Given the description of an element on the screen output the (x, y) to click on. 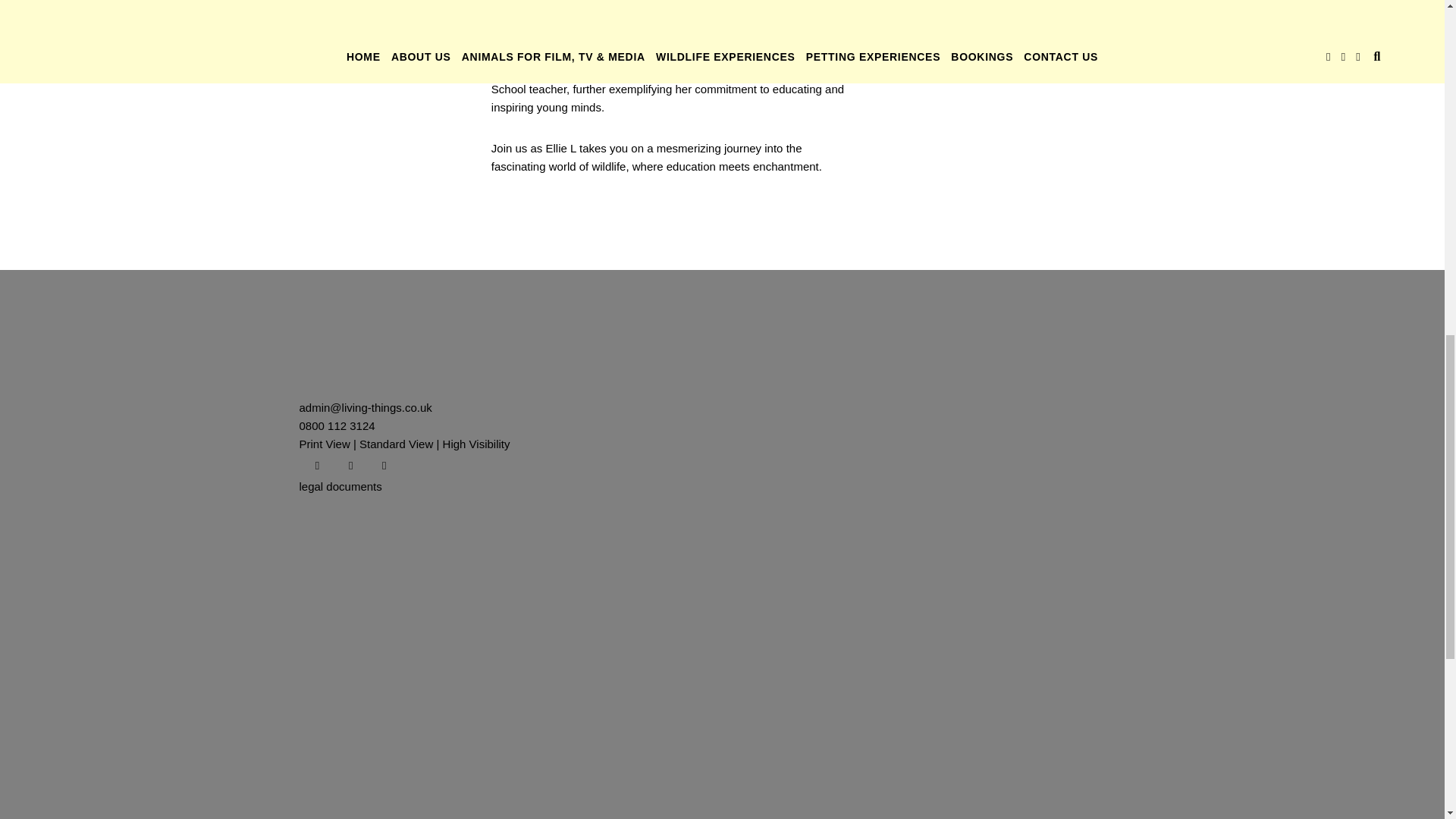
Switch to Standard Visibility (395, 443)
Switch to High Visibility (476, 443)
Switch to Print (323, 443)
